Given the description of an element on the screen output the (x, y) to click on. 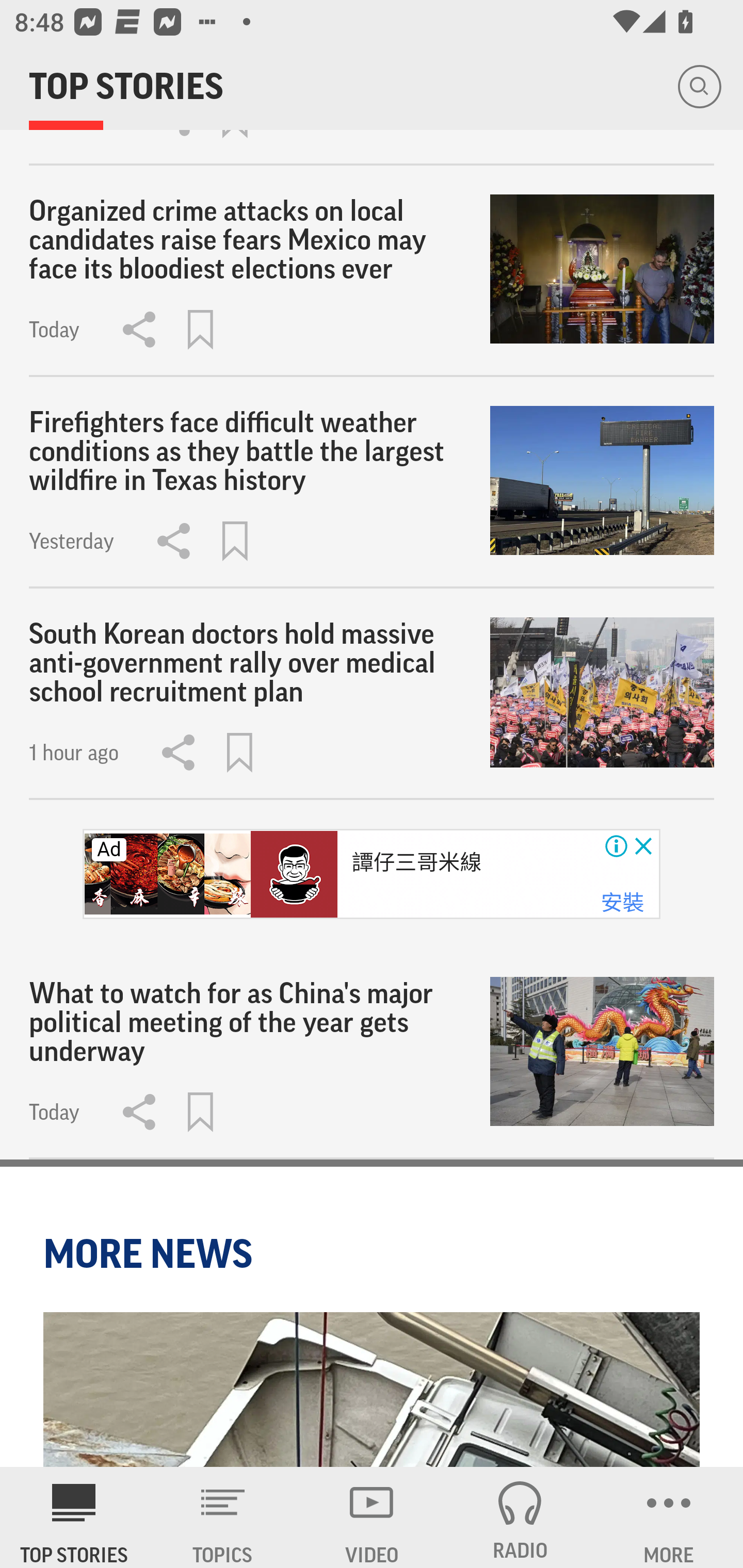
譚仔三哥米線 (416, 863)
安裝 (621, 903)
MORE NEWS (151, 1253)
AP News TOP STORIES (74, 1517)
TOPICS (222, 1517)
VIDEO (371, 1517)
RADIO (519, 1517)
MORE (668, 1517)
